Given the description of an element on the screen output the (x, y) to click on. 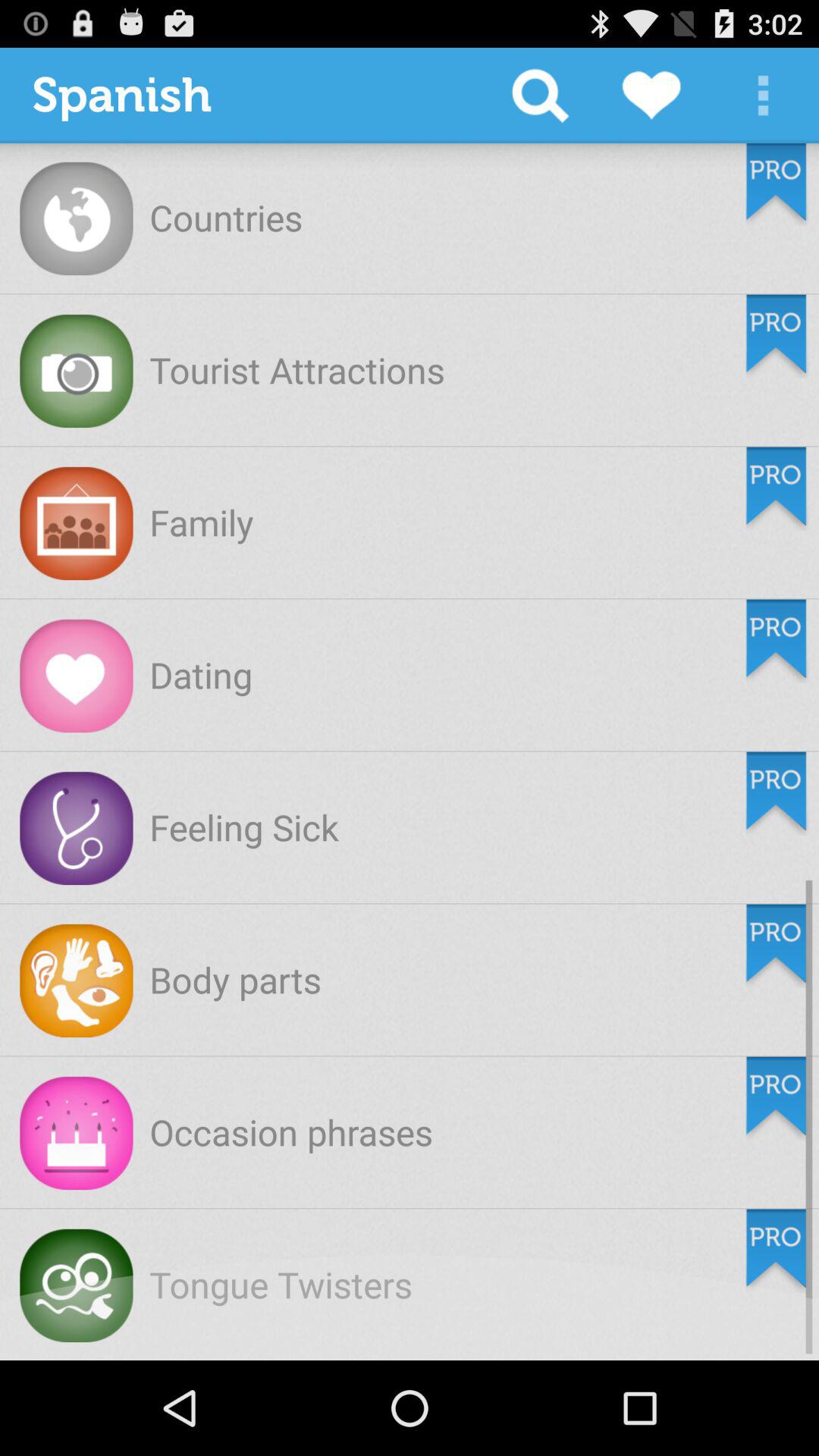
flip to tongue twisters item (280, 1284)
